Given the description of an element on the screen output the (x, y) to click on. 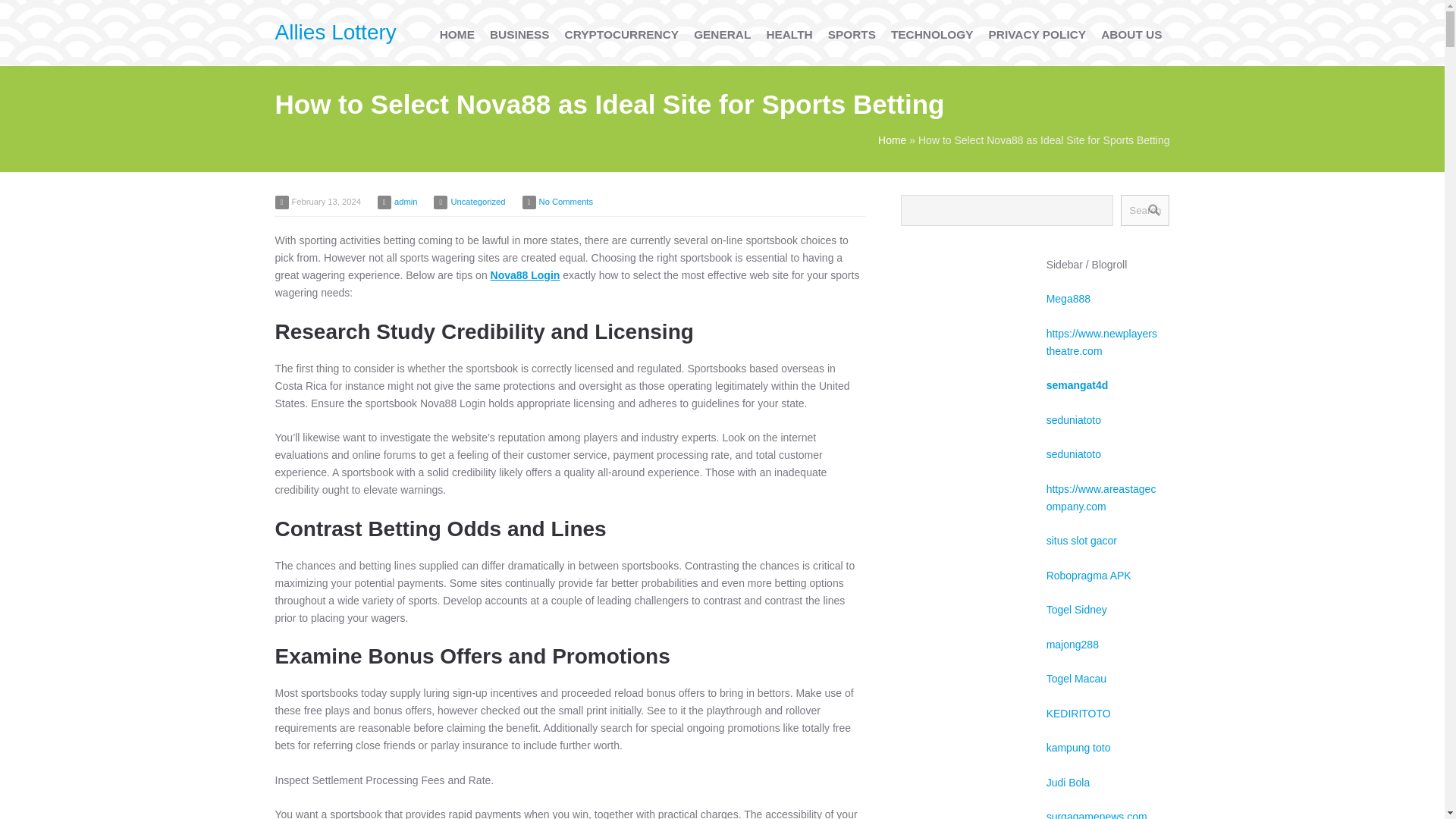
situs slot gacor (1081, 540)
Search (1145, 210)
Togel Macau (1076, 678)
TECHNOLOGY (932, 34)
semangat4d (1077, 385)
Robopragma APK (1088, 575)
GENERAL (721, 34)
PRIVACY POLICY (1037, 34)
View all posts by admin (405, 201)
Uncategorized (477, 201)
